Given the description of an element on the screen output the (x, y) to click on. 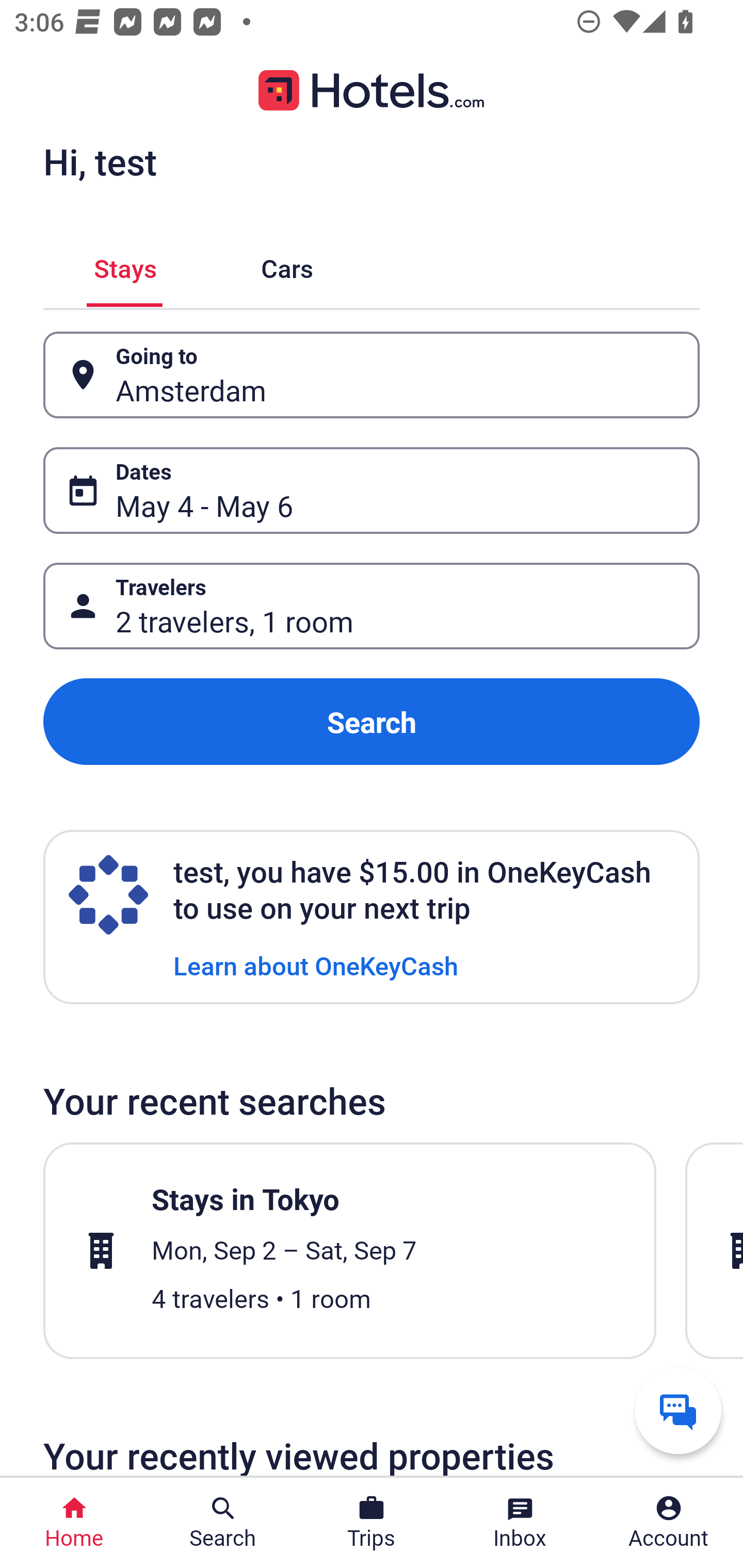
Hi, test (99, 161)
Cars (286, 265)
Going to Button Amsterdam (371, 375)
Dates Button May 4 - May 6 (371, 489)
Travelers Button 2 travelers, 1 room (371, 605)
Search (371, 721)
Learn about OneKeyCash Learn about OneKeyCash Link (315, 964)
Get help from a virtual agent (677, 1410)
Search Search Button (222, 1522)
Trips Trips Button (371, 1522)
Inbox Inbox Button (519, 1522)
Account Profile. Button (668, 1522)
